Given the description of an element on the screen output the (x, y) to click on. 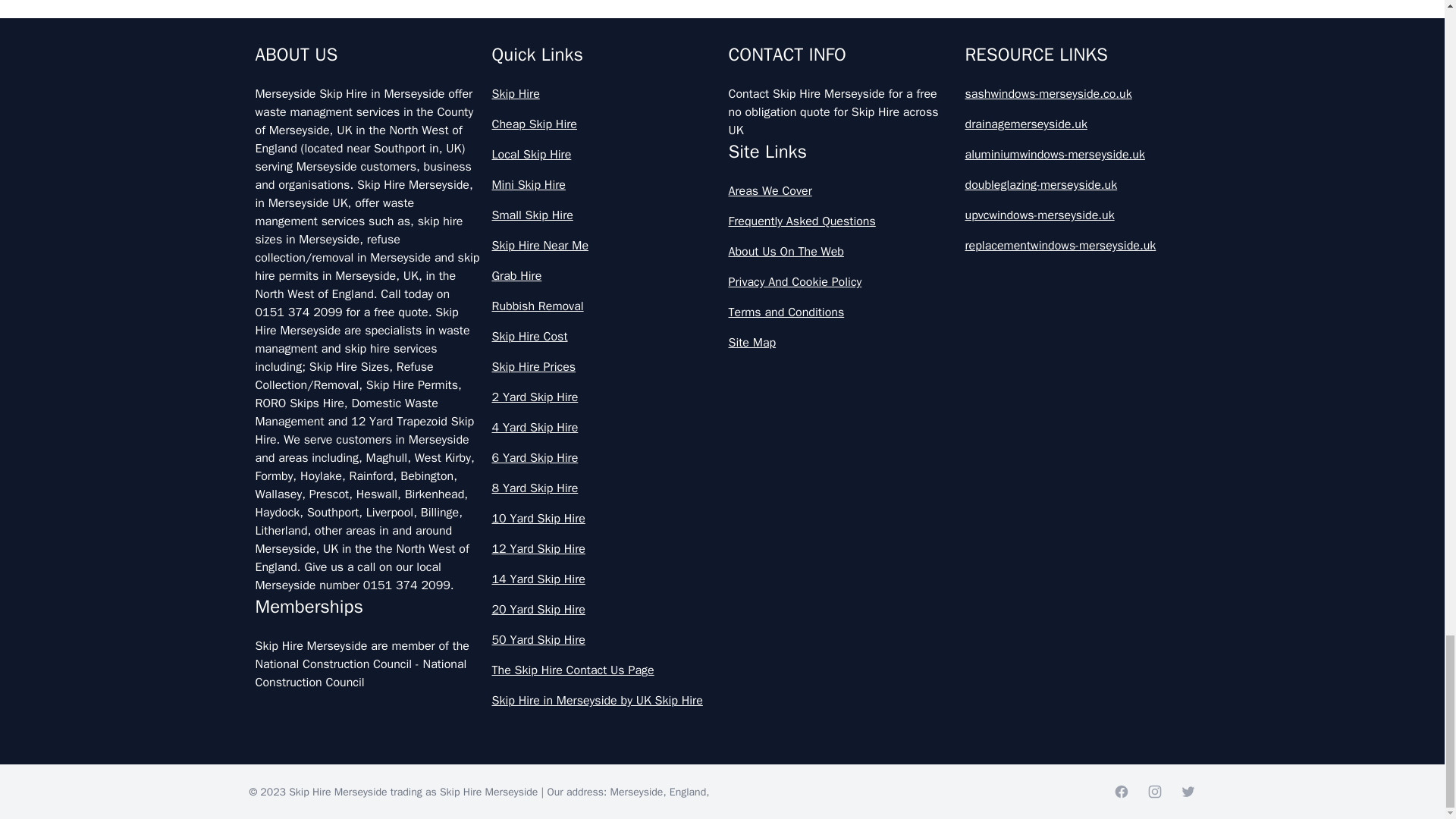
How Much To Get Rubbish Removed In Merseyside (722, 80)
Skip Hire in Merseyside by UK Skip Hire (604, 700)
Site Map (840, 342)
How To Start A Rubbish Removal Business In Merseyside (722, 280)
upvcwindows-merseyside.uk (1076, 215)
aluminiumwindows-merseyside.uk (1076, 154)
How Much To Charge For Rubbish Removal In Merseyside (722, 18)
How Much To Remove Rubbish In Merseyside (722, 146)
How To Set Up A Rubbish Removal Business In Merseyside (722, 213)
doubleglazing-merseyside.uk (1076, 185)
drainagemerseyside.uk (1076, 124)
sashwindows-merseyside.co.uk (1076, 94)
replacementwindows-merseyside.uk (1076, 245)
